Given the description of an element on the screen output the (x, y) to click on. 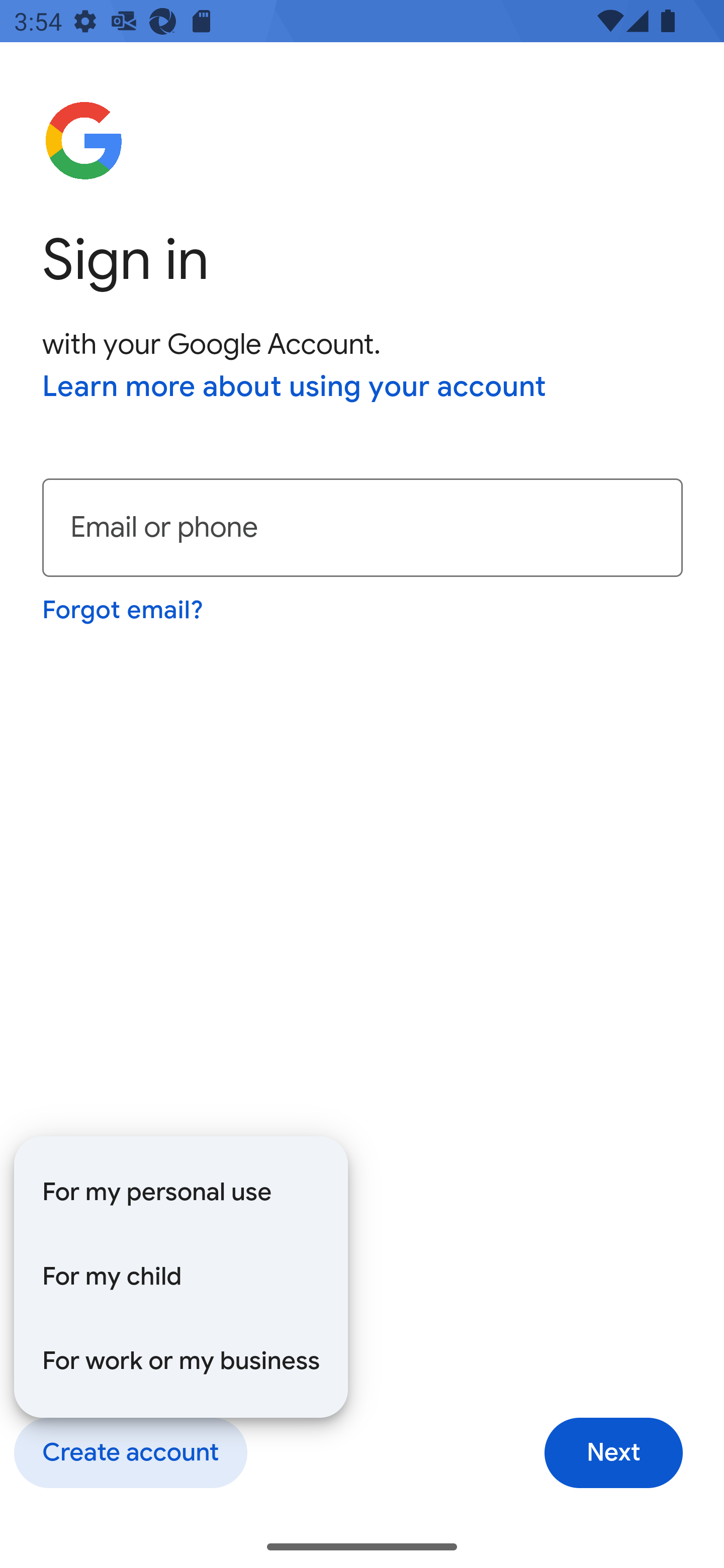
Learn more about using your account (294, 388)
Forgot email? (123, 609)
Next (613, 1453)
Create account (129, 1453)
